Given the description of an element on the screen output the (x, y) to click on. 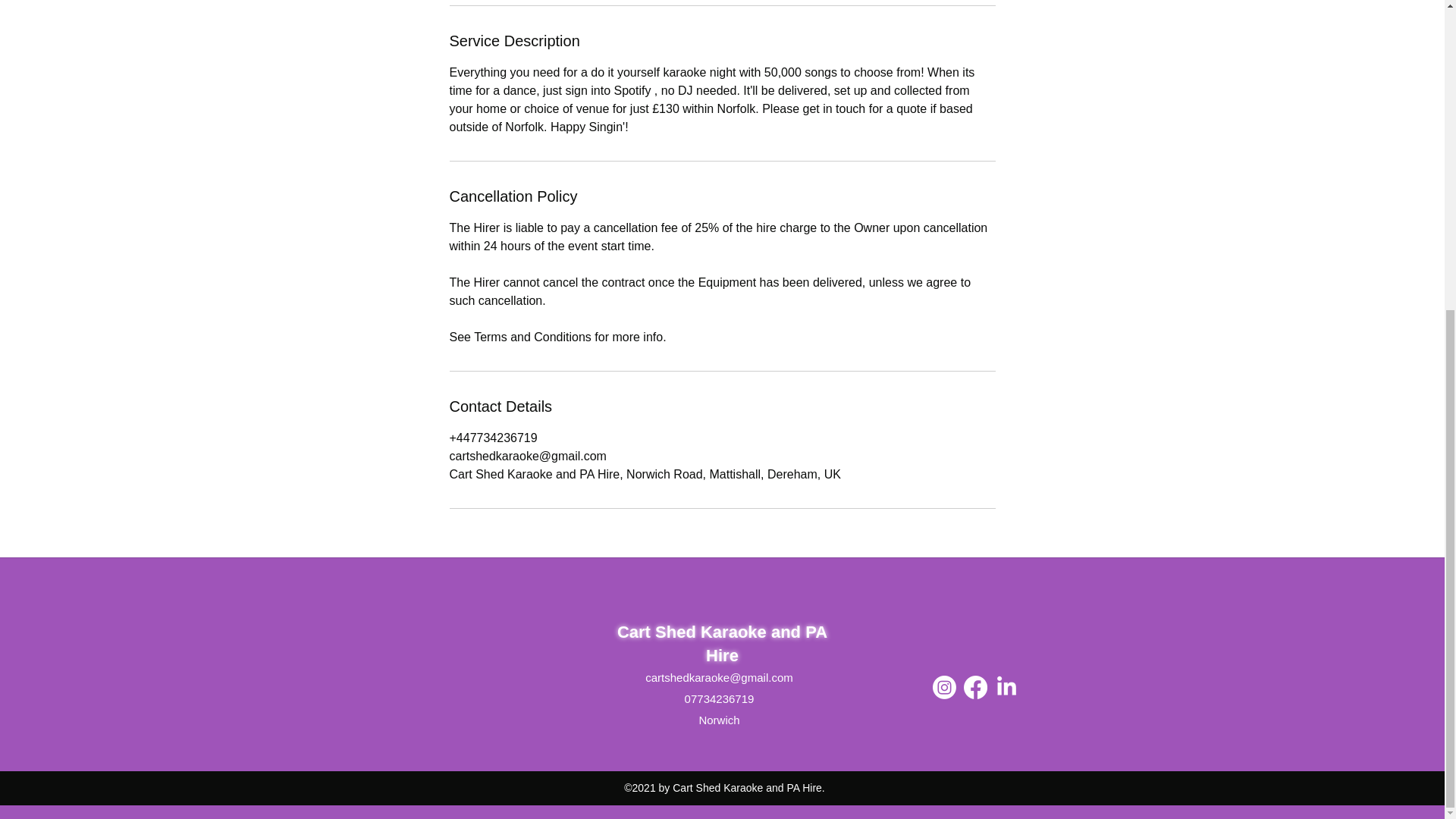
Cart Shed Karaoke and PA Hire (722, 643)
